Given the description of an element on the screen output the (x, y) to click on. 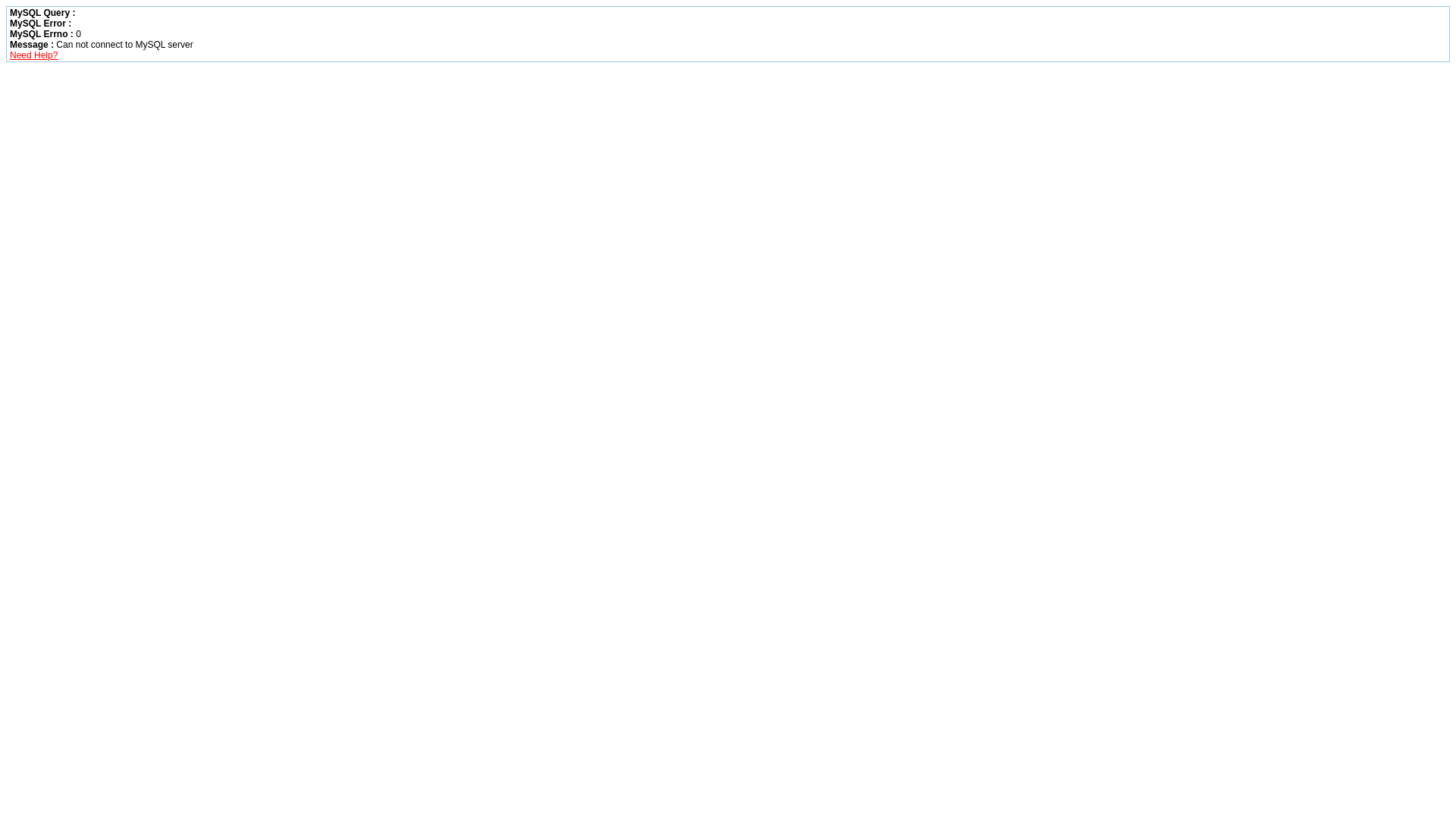
Need Help? Element type: text (33, 55)
